Given the description of an element on the screen output the (x, y) to click on. 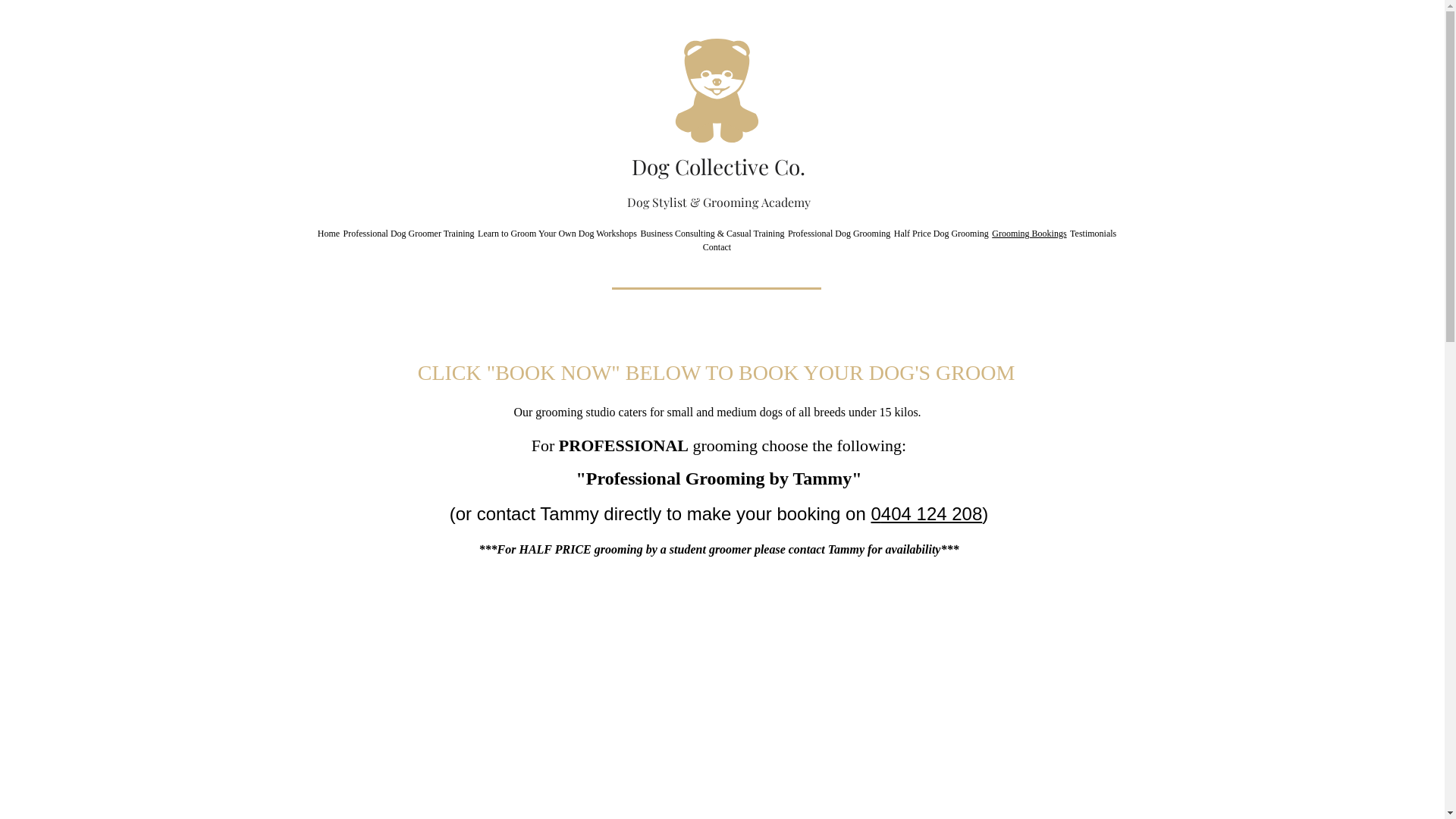
Professional Dog Grooming Element type: text (839, 233)
Half Price Dog Grooming Element type: text (940, 233)
Learn to Groom Your Own Dog Workshops Element type: text (557, 233)
Professional Dog Groomer Training Element type: text (408, 233)
Home Element type: text (328, 233)
Business Consulting & Casual Training Element type: text (712, 233)
Facebook Domain Verification Element type: hover (510, 115)
0404 124 208 Element type: text (926, 513)
Grooming Bookings Element type: text (1029, 233)
Contact Element type: text (716, 247)
Testimonials Element type: text (1093, 233)
